Given the description of an element on the screen output the (x, y) to click on. 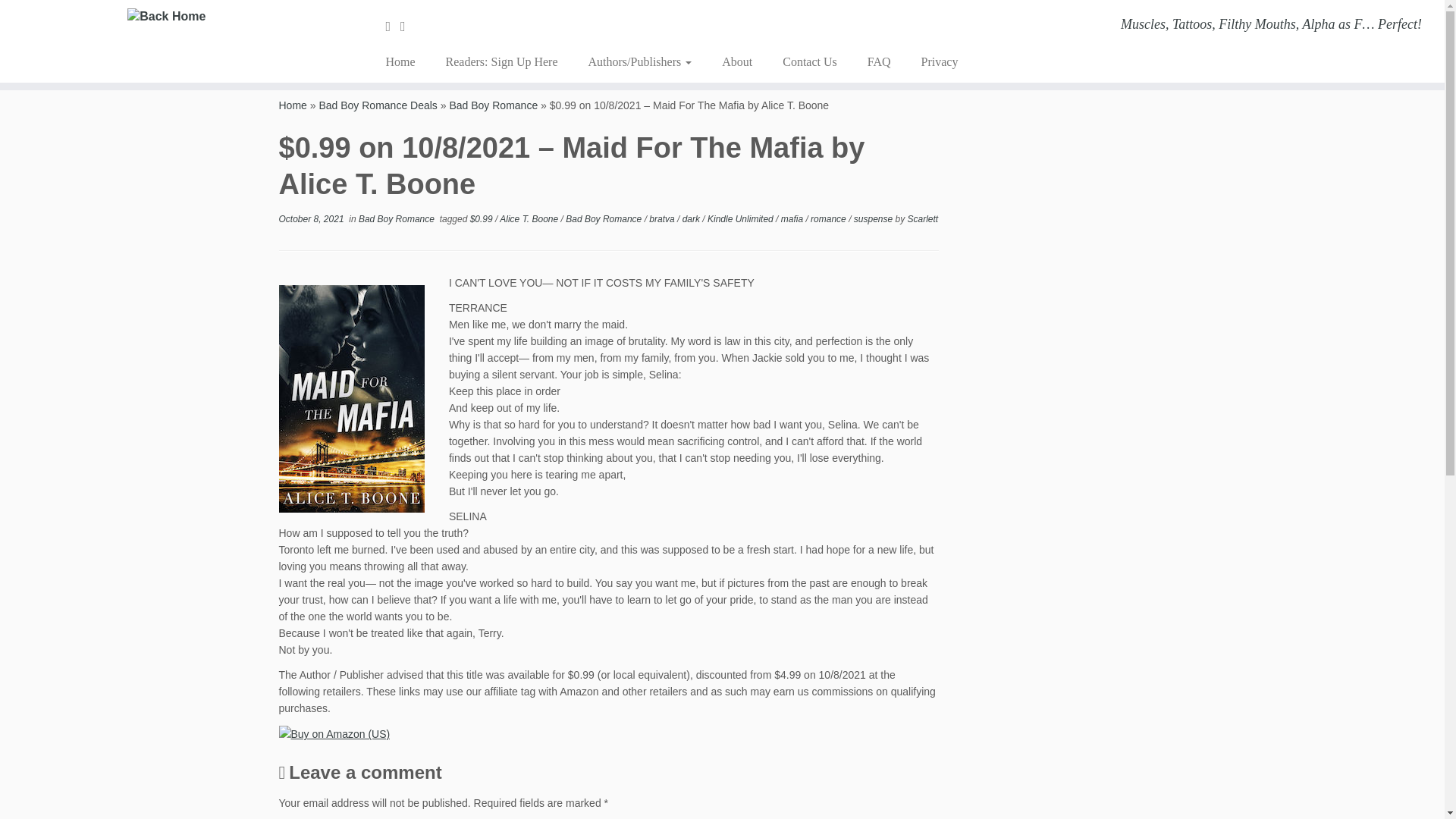
October 8, 2021 (311, 218)
View all posts in Alice T. Boone (529, 218)
Bad Boy Romance (397, 218)
Alice T. Boone (529, 218)
Home (405, 61)
Home (293, 105)
Bad Boy Romance (492, 105)
View all posts in bratva (663, 218)
View all posts in dark (692, 218)
View all posts in Bad Boy Romance (604, 218)
